Given the description of an element on the screen output the (x, y) to click on. 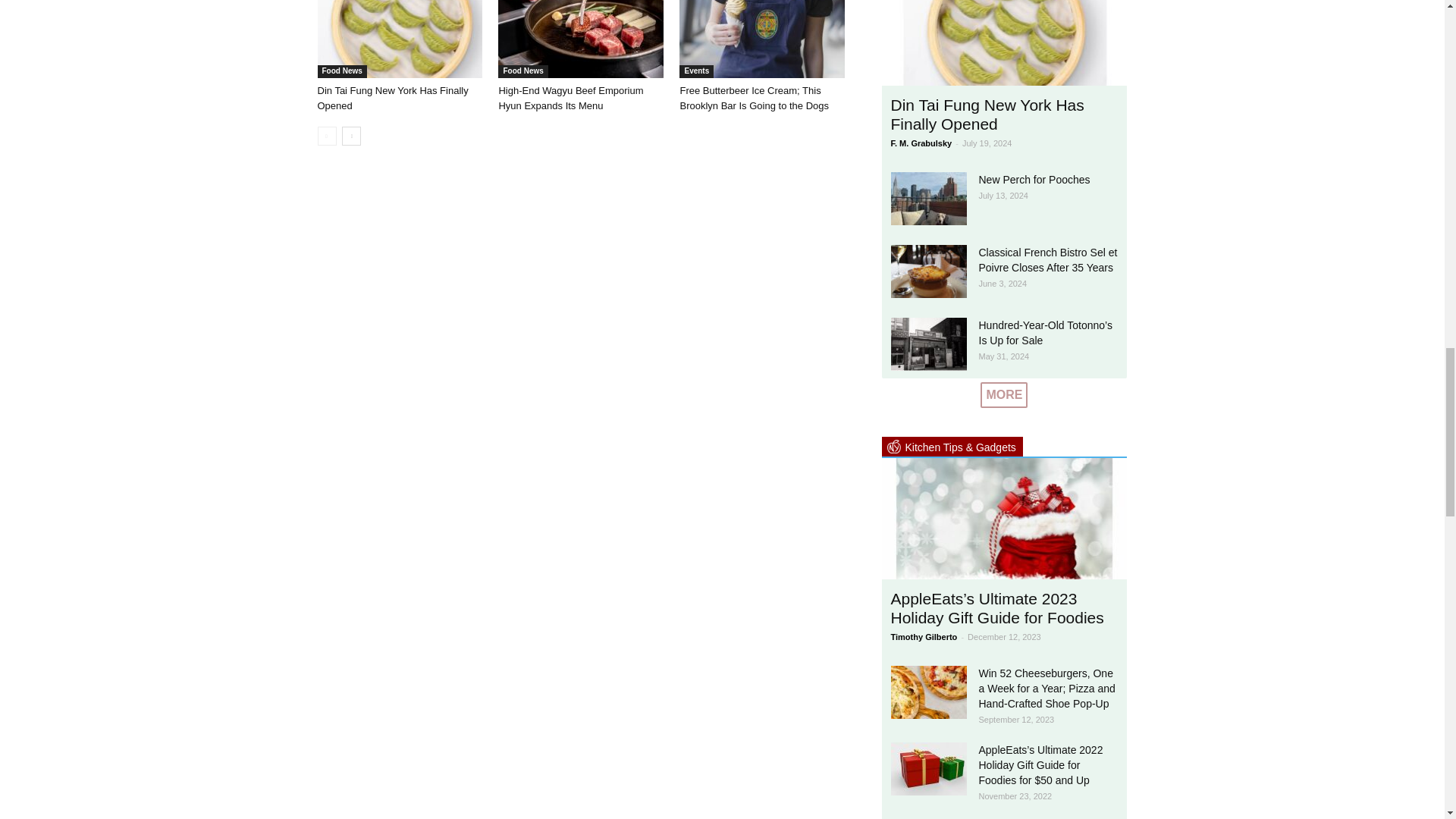
Din Tai Fung New York Has Finally Opened (392, 98)
Din Tai Fung New York Has Finally Opened (399, 38)
High-End Wagyu Beef Emporium Hyun Expands Its Menu (570, 98)
High-End Wagyu Beef Emporium Hyun Expands Its Menu (580, 38)
